Given the description of an element on the screen output the (x, y) to click on. 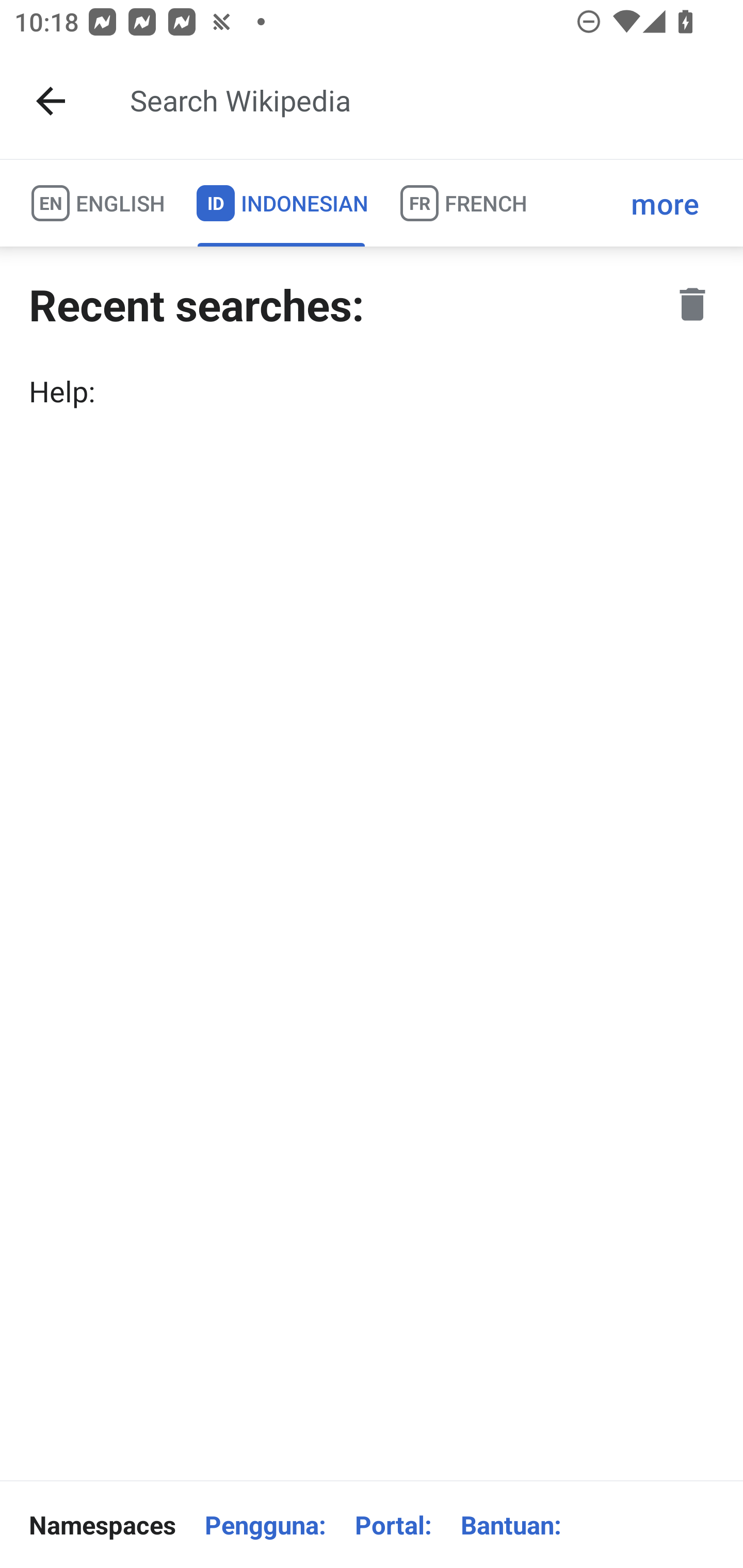
Navigate up (50, 101)
Search Wikipedia (420, 100)
EN ENGLISH (96, 202)
FR FRENCH (462, 202)
more (664, 202)
Clear history (692, 304)
Help: (371, 391)
Namespaces (102, 1524)
Pengguna: (265, 1524)
Portal: (393, 1524)
Bantuan: (510, 1524)
